Given the description of an element on the screen output the (x, y) to click on. 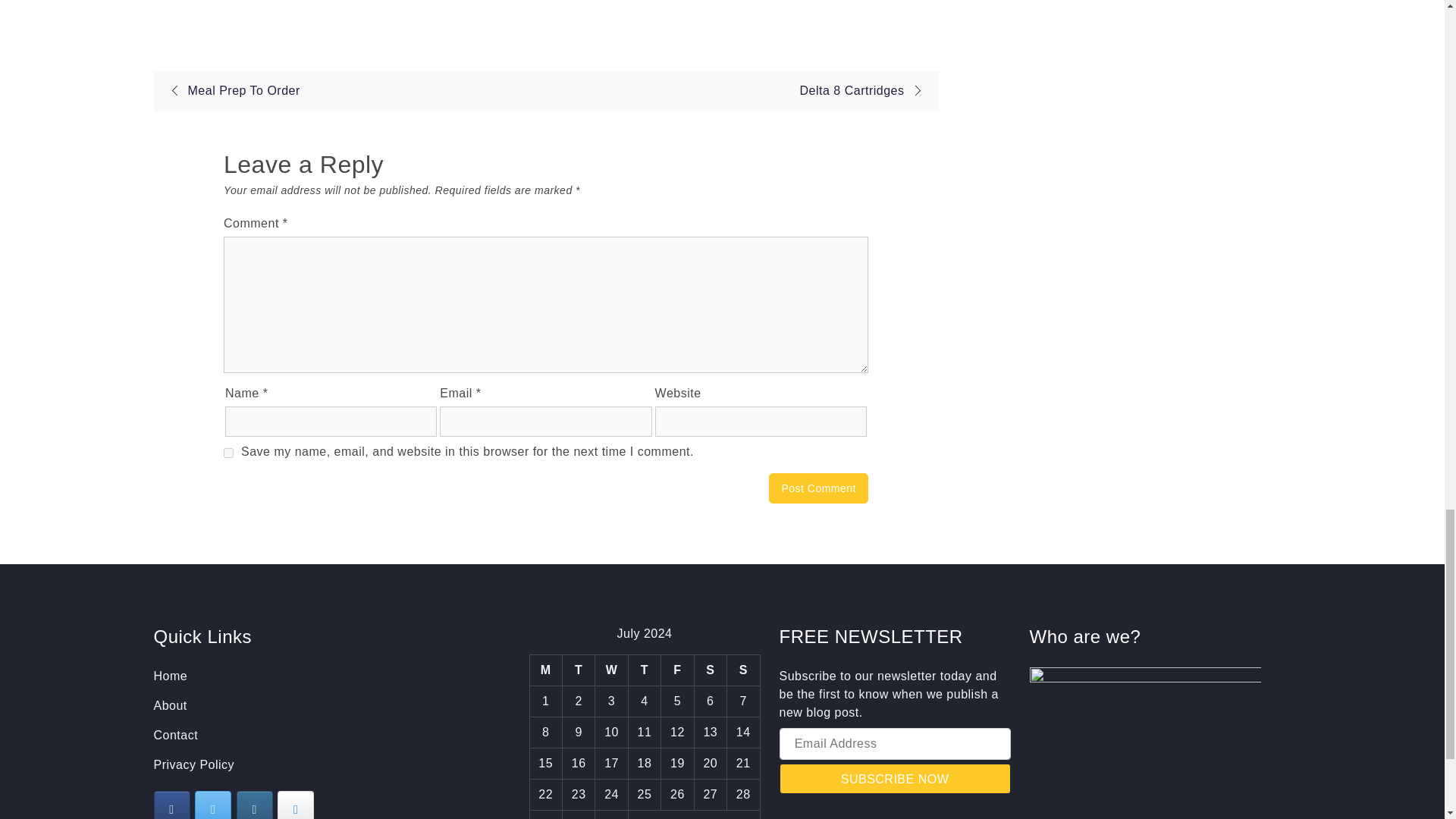
Privacy Policy (193, 764)
Post Comment (817, 488)
Perrys Bridge Reptile Park on X Twitter (213, 805)
Perrys Bridge Reptile Park on Instagram (254, 805)
Contact (175, 735)
Meal Prep To Order (229, 90)
Post Comment (817, 488)
Monday (545, 669)
Thursday (644, 669)
Wednesday (611, 669)
Tuesday (578, 669)
Perrys Bridge Reptile Park on Facebook (170, 805)
Perrys Bridge Reptile Park on Skype (296, 805)
SUBSCRIBE NOW (894, 778)
About (169, 705)
